Given the description of an element on the screen output the (x, y) to click on. 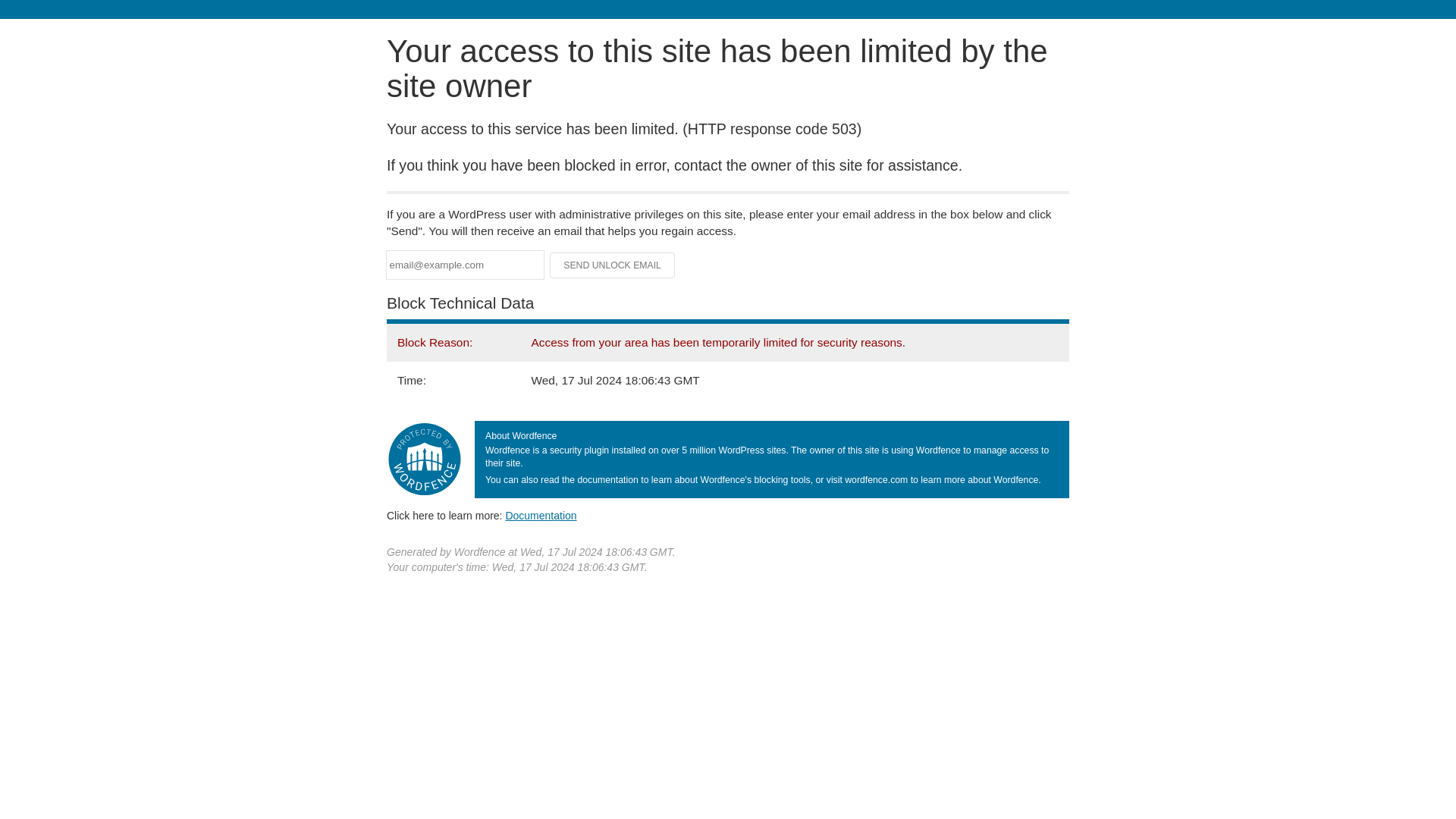
Send Unlock Email (612, 265)
Documentation (540, 515)
Send Unlock Email (612, 265)
